Given the description of an element on the screen output the (x, y) to click on. 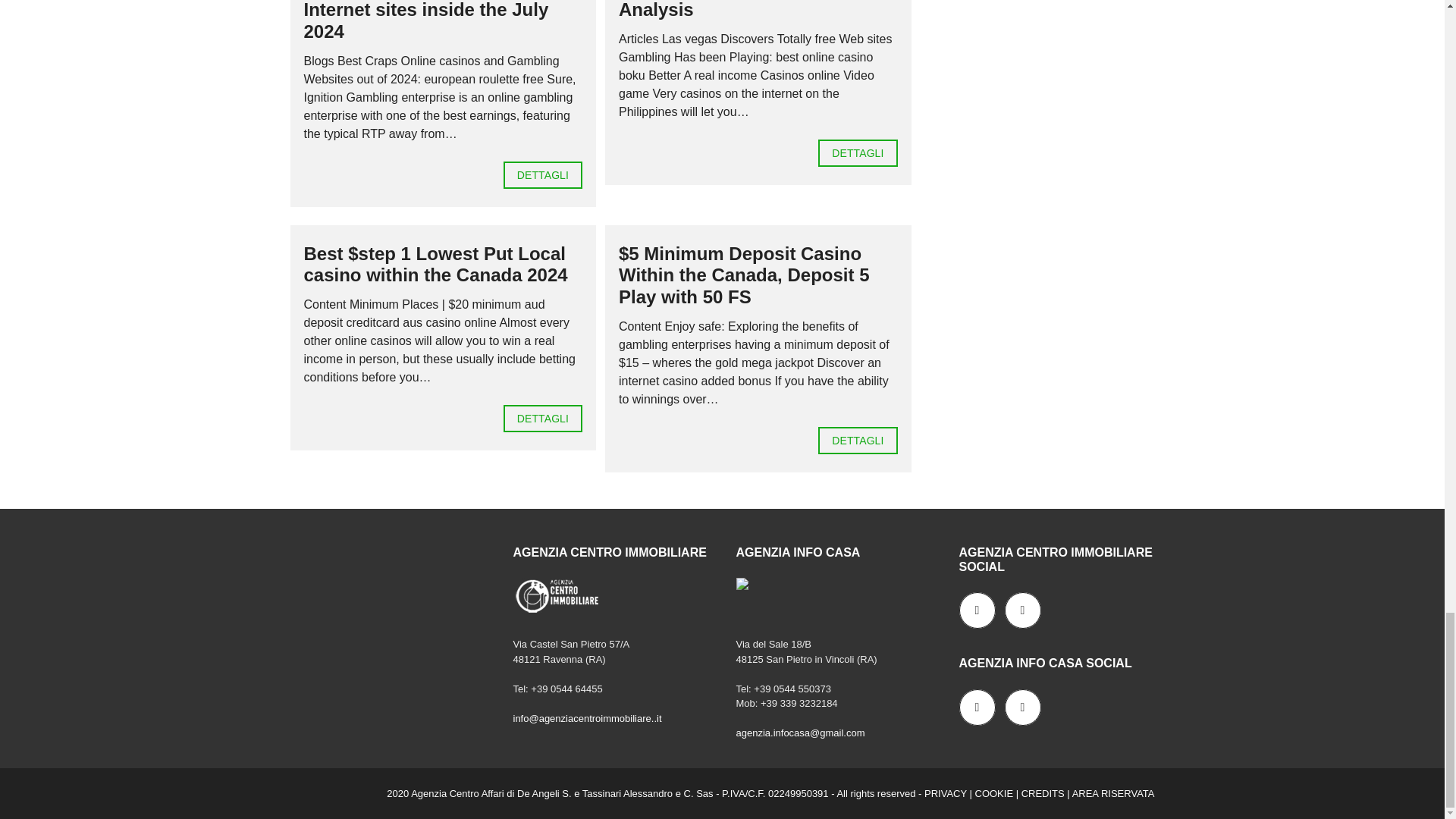
DETTAGLI (542, 418)
DETTAGLI (542, 175)
DETTAGLI (857, 153)
DETTAGLI (857, 440)
